Given the description of an element on the screen output the (x, y) to click on. 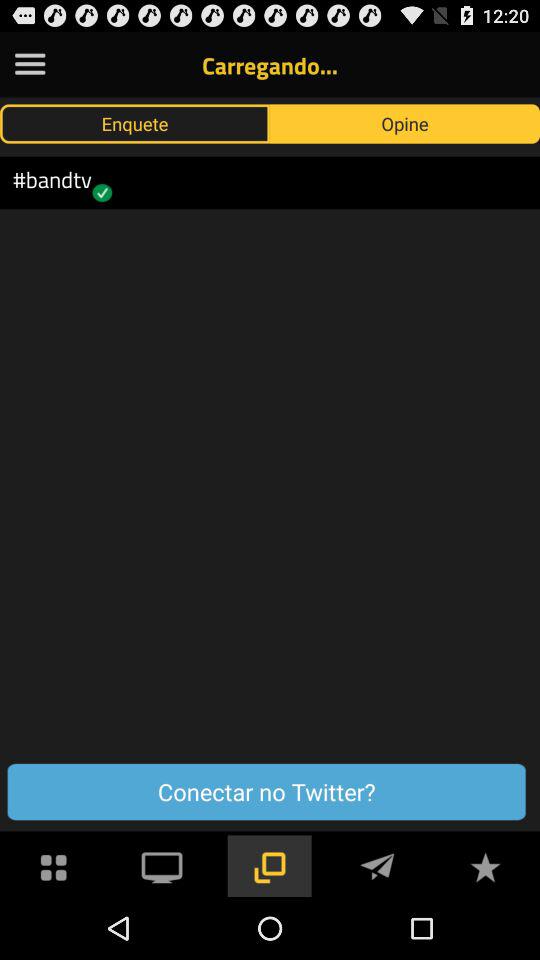
press enquete button (135, 123)
